Given the description of an element on the screen output the (x, y) to click on. 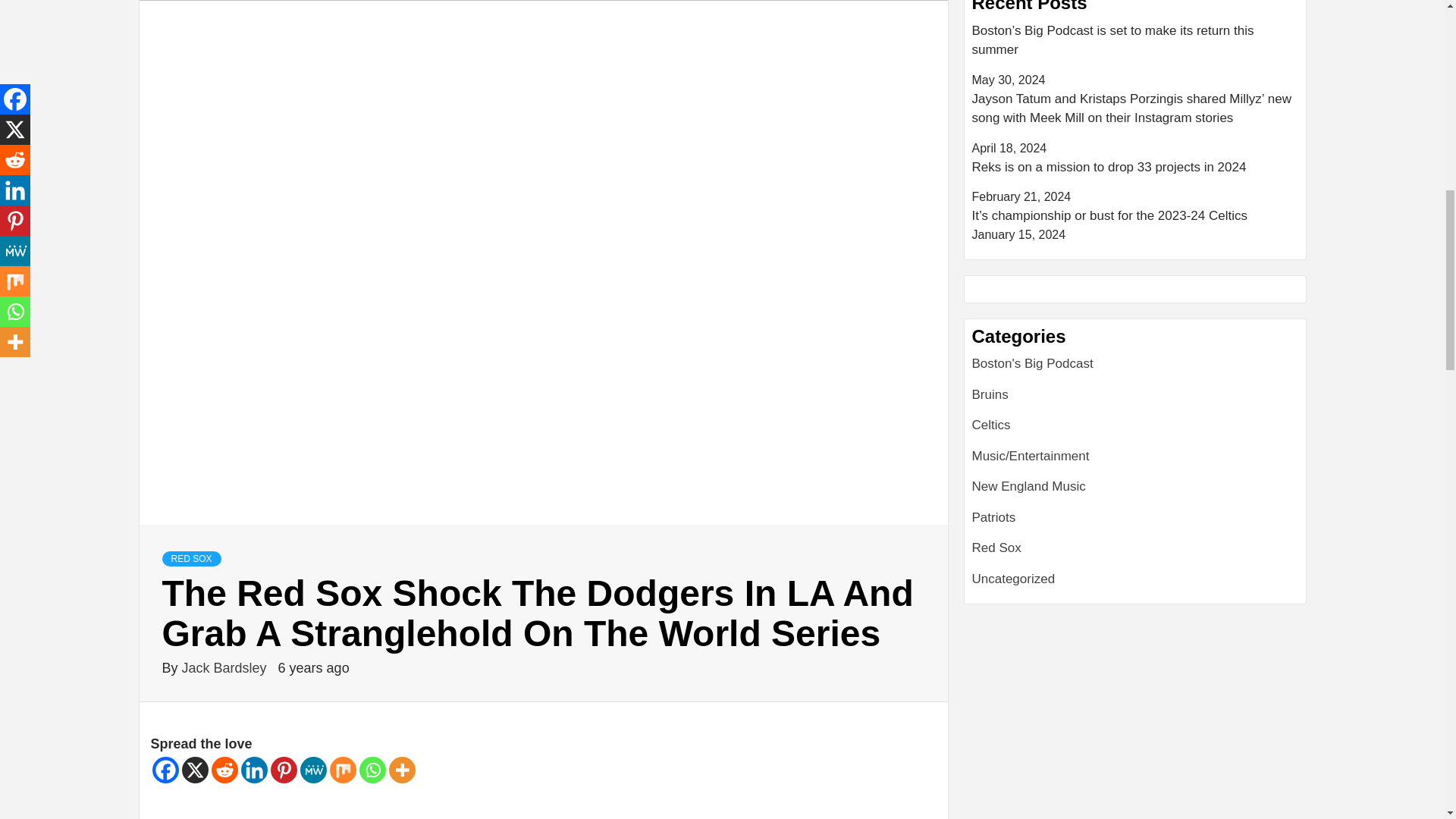
MeWe (312, 769)
More (401, 769)
X (195, 769)
Mix (342, 769)
Linkedin (254, 769)
Jack Bardsley (226, 667)
Reddit (224, 769)
Facebook (164, 769)
Whatsapp (372, 769)
Pinterest (283, 769)
RED SOX (191, 558)
